Given the description of an element on the screen output the (x, y) to click on. 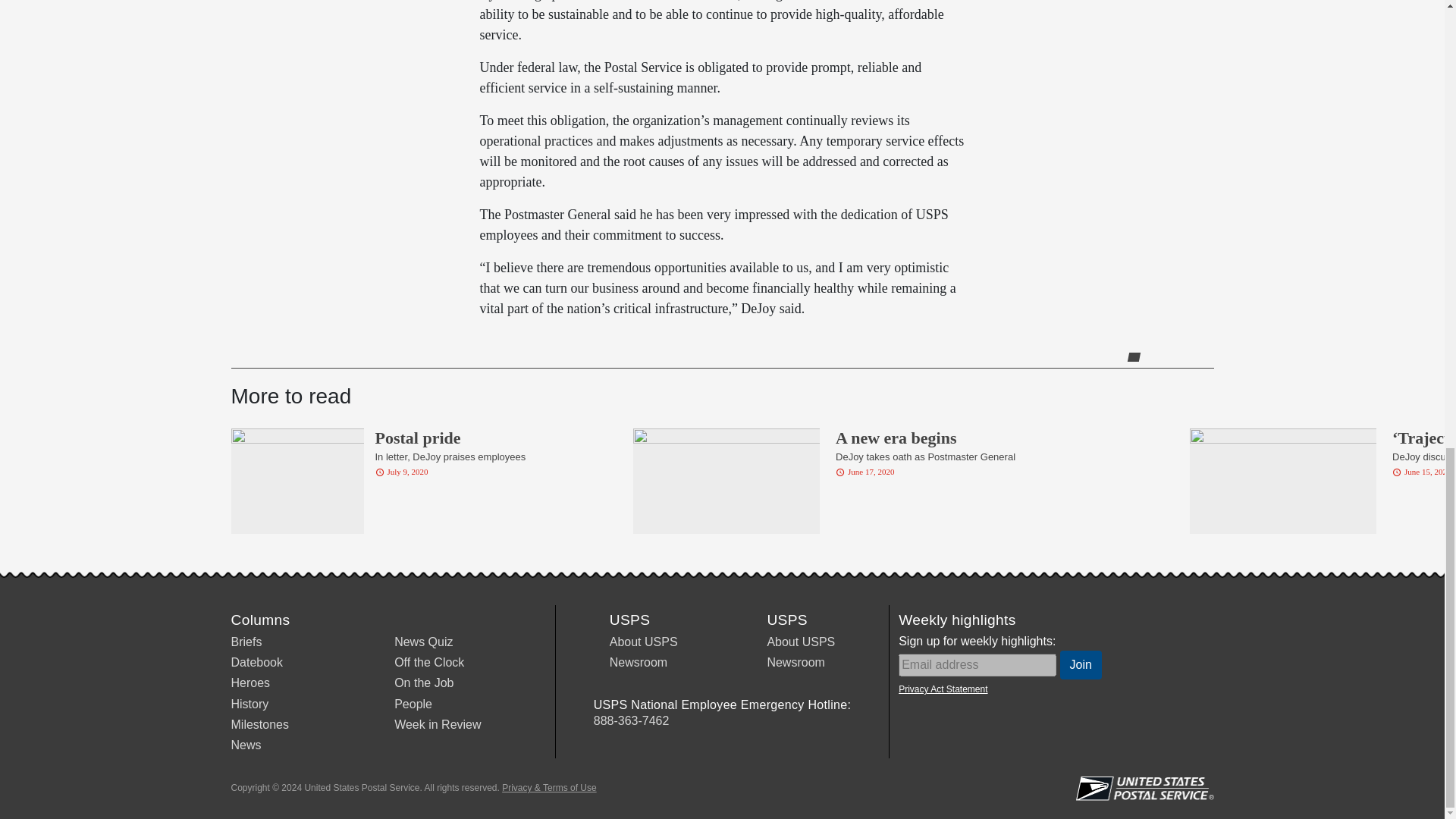
Milestones (259, 724)
Newsroom (638, 662)
History (248, 703)
Off the Clock (429, 662)
On the Job (423, 682)
Join (1080, 664)
About USPS (800, 641)
News (245, 744)
News Quiz (423, 641)
About USPS (644, 641)
Week in Review (437, 724)
Datebook (256, 662)
People (413, 703)
Briefs (246, 641)
